Given the description of an element on the screen output the (x, y) to click on. 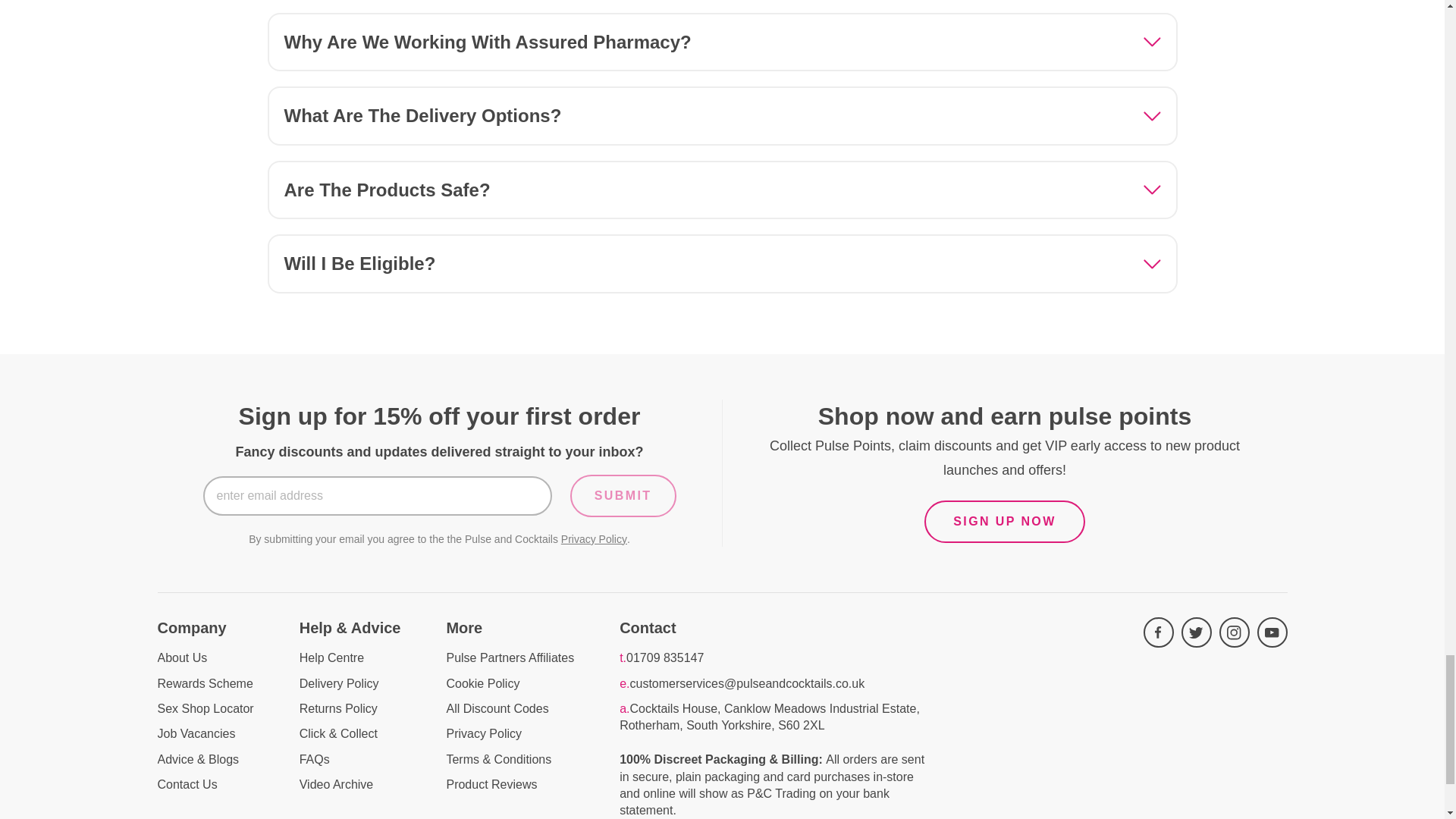
instagram (1234, 632)
facebook (1157, 632)
youtube (1272, 632)
twitter (1195, 632)
